Given the description of an element on the screen output the (x, y) to click on. 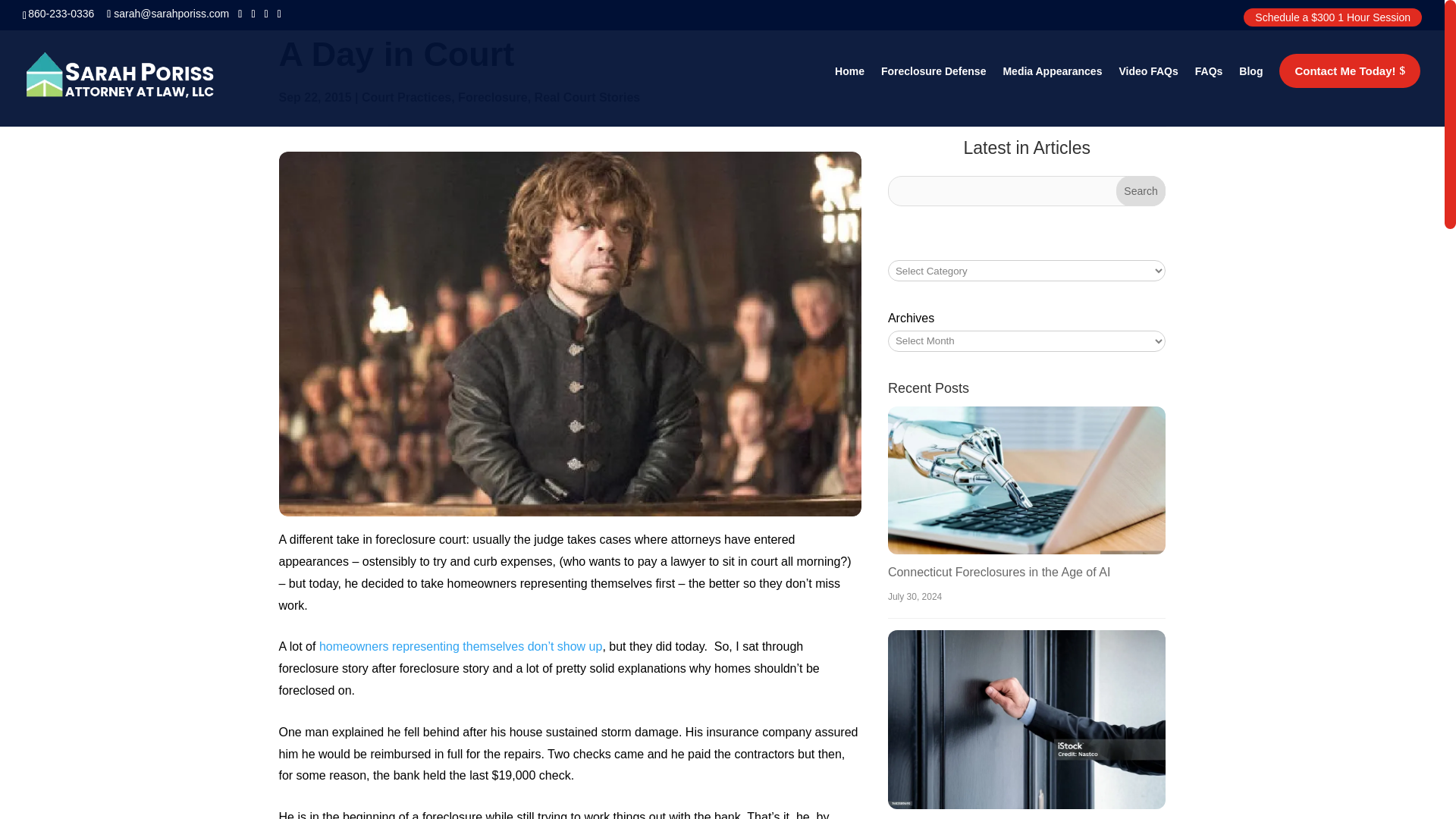
860-233-0336 (60, 13)
Media Appearances (1052, 89)
Foreclosure (492, 97)
Video FAQs (1147, 89)
Foreclosure Defense (933, 89)
Court Practices (406, 97)
Connecticut Foreclosures in the Age of AI (999, 571)
Real Court Stories (587, 97)
Contact Me Today! (1350, 70)
